Given the description of an element on the screen output the (x, y) to click on. 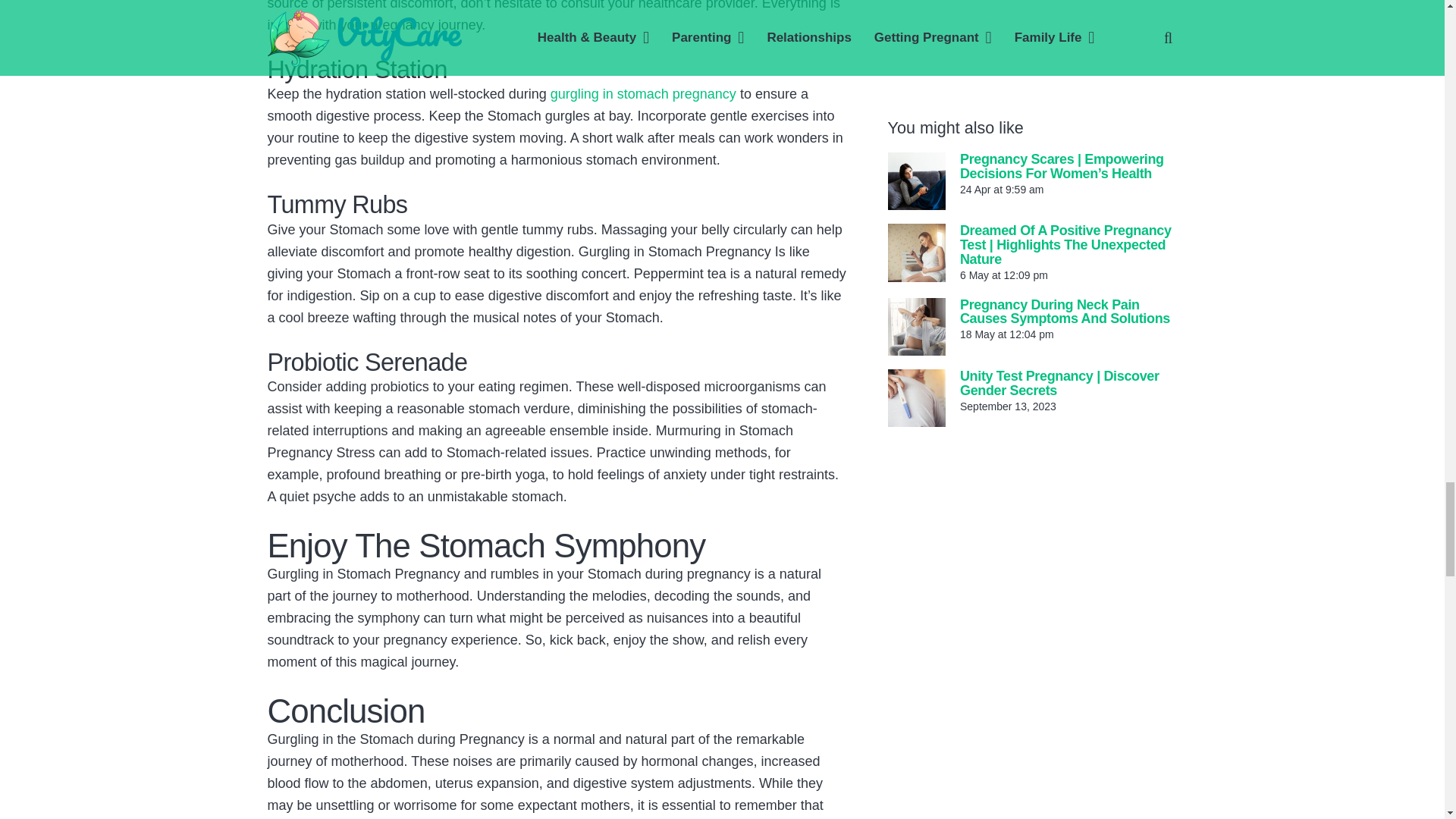
gurgling in stomach pregnancy (643, 93)
